Given the description of an element on the screen output the (x, y) to click on. 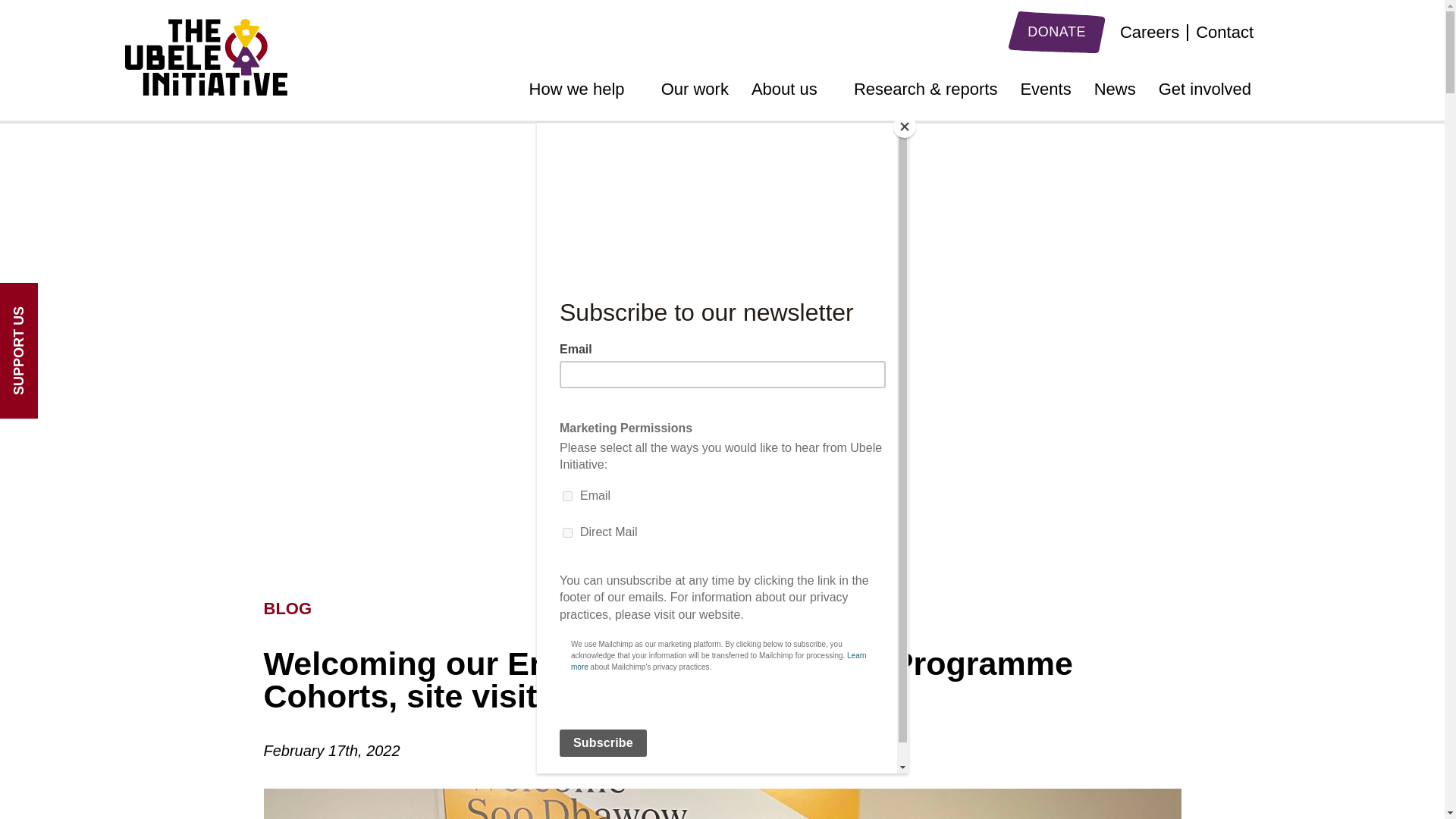
The Ubele Initiative Twitter page (1278, 33)
Get involved (1204, 94)
Our work (694, 94)
Contact (1224, 31)
DONATE (1057, 32)
Careers (1149, 31)
News (1115, 94)
How we help (583, 94)
Events (1045, 94)
About us (791, 94)
The Ubele Initiative Instagram page (1309, 34)
SUPPORT US (67, 301)
